Given the description of an element on the screen output the (x, y) to click on. 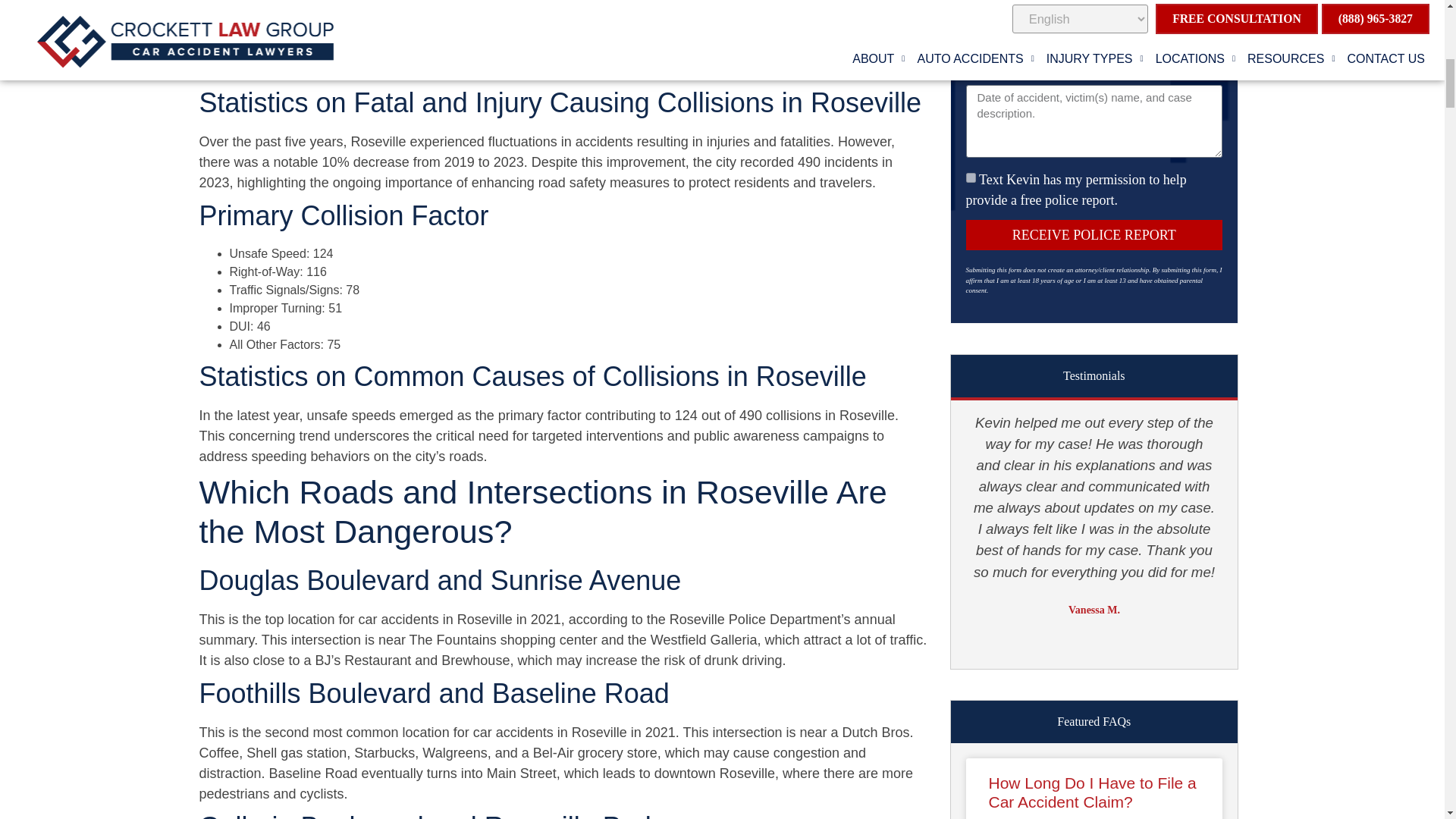
on (970, 177)
